Given the description of an element on the screen output the (x, y) to click on. 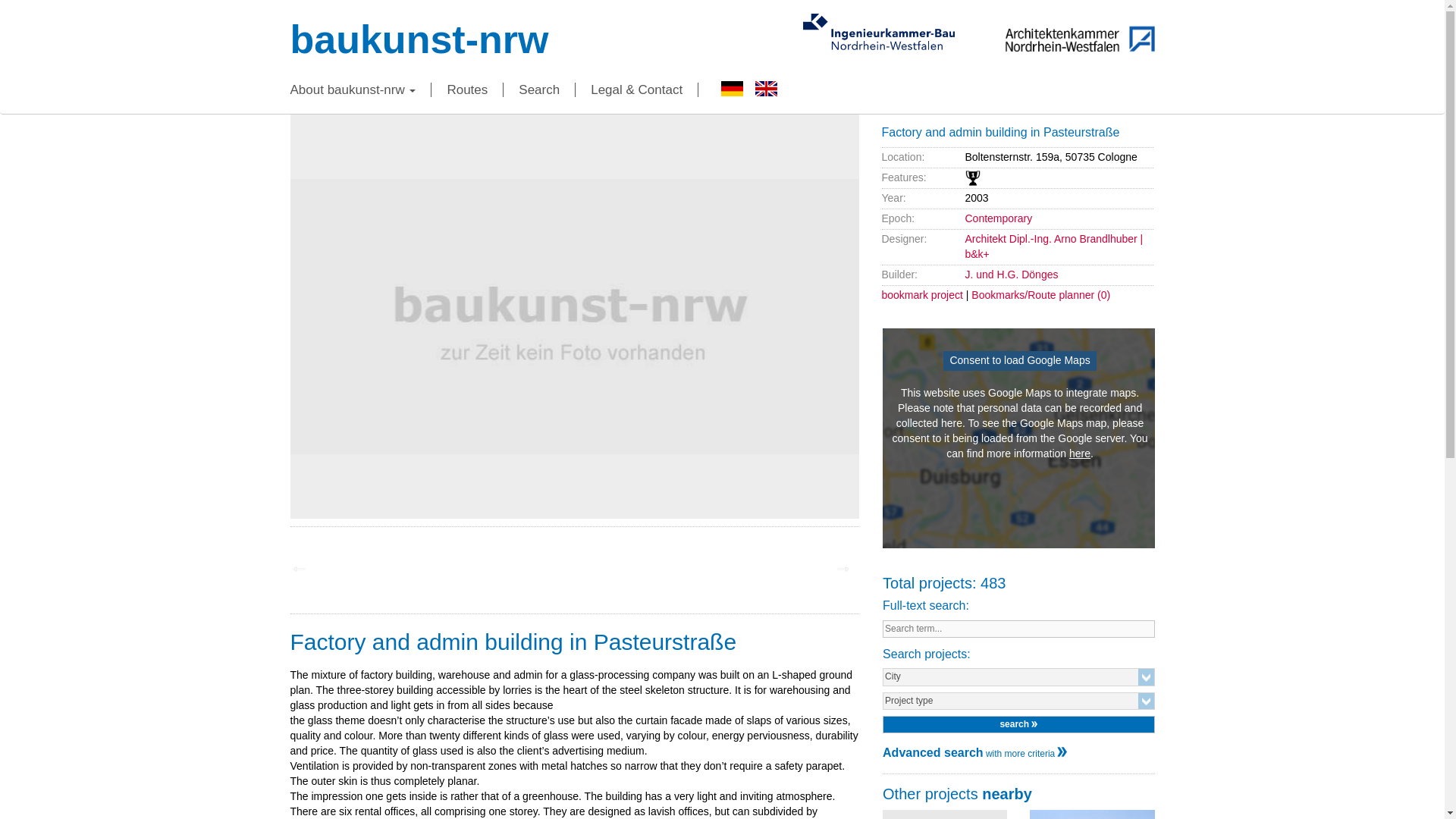
Routes (466, 89)
Consent to load Google Maps (1019, 359)
here (1079, 453)
Search (539, 89)
Consent to load Google Maps (1019, 361)
baukunst-nrw (418, 39)
bookmark project (921, 295)
About baukunst-nrw (359, 89)
Contemporary (997, 218)
awarded building (971, 177)
